Given the description of an element on the screen output the (x, y) to click on. 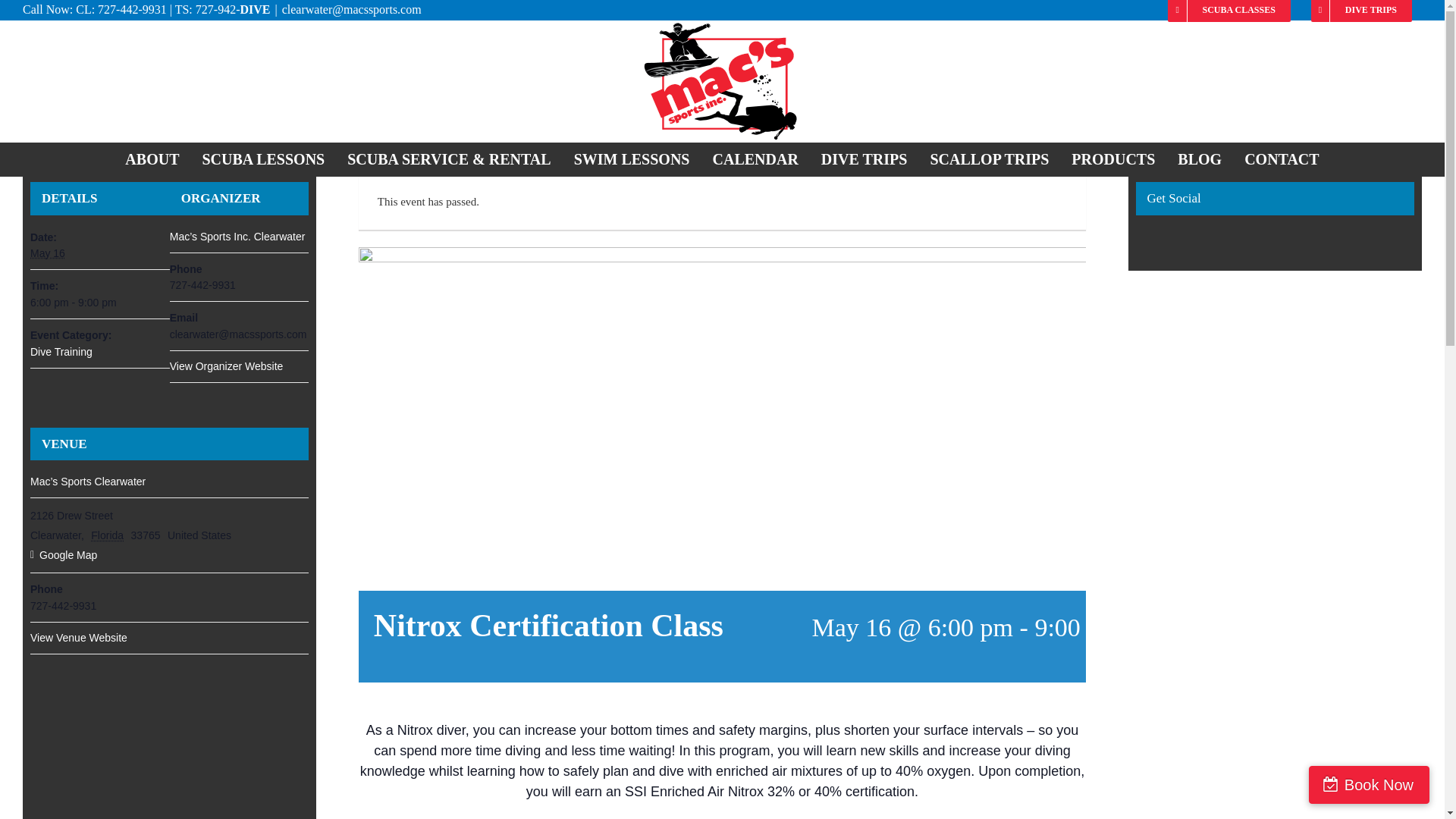
Florida (109, 535)
BLOG (1199, 159)
SCUBA CLASSES (1228, 9)
2024-05-16 (47, 253)
SCUBA LESSONS (263, 159)
Click to view a Google Map (169, 555)
SCALLOP TRIPS (988, 159)
DIVE TRIPS (863, 159)
ABOUT (151, 159)
CALENDAR (754, 159)
PRODUCTS (1112, 159)
CONTACT (1281, 159)
SWIM LESSONS (631, 159)
DIVE TRIPS (1361, 9)
2024-05-16 (100, 302)
